Given the description of an element on the screen output the (x, y) to click on. 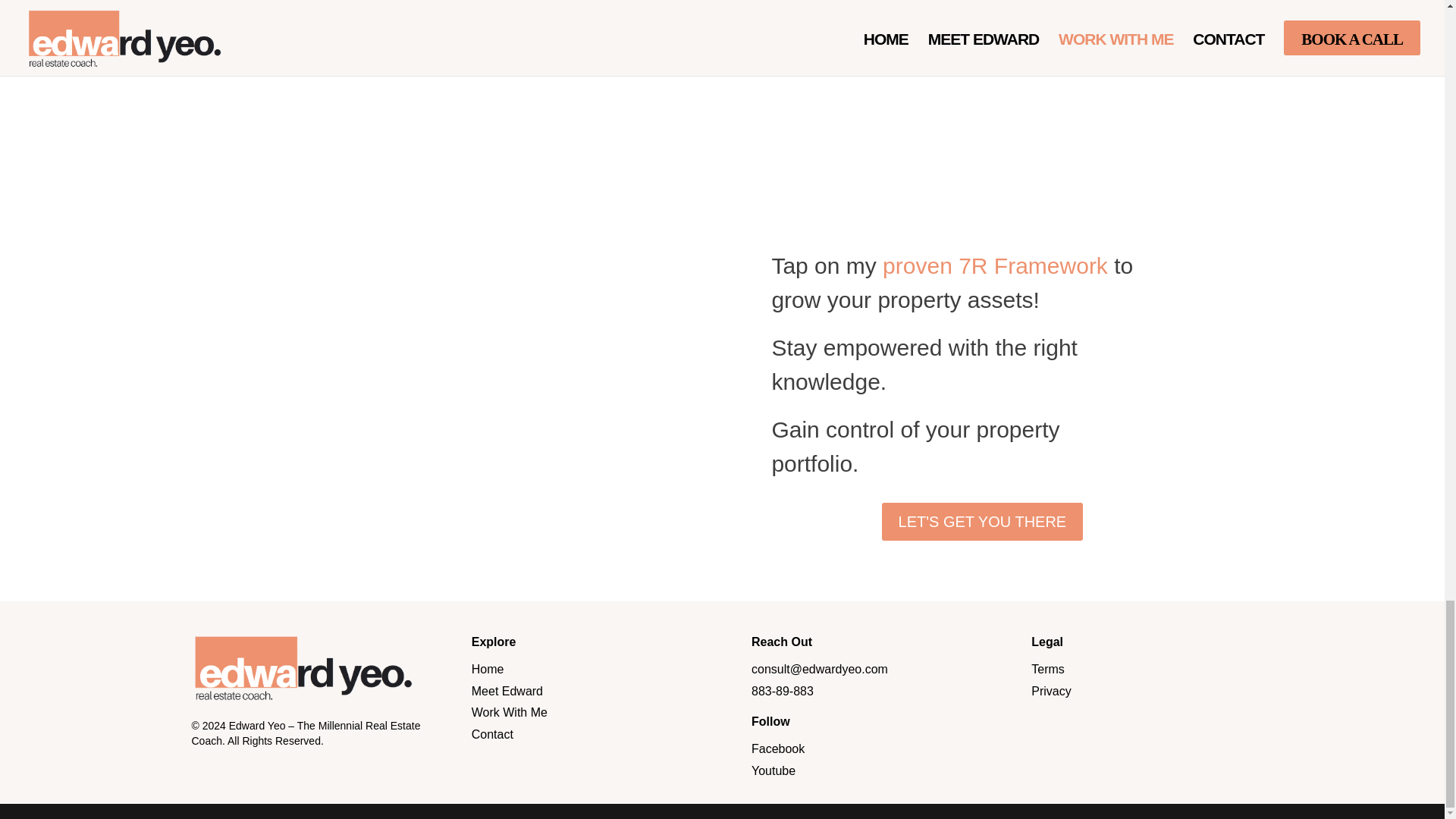
Privacy (1050, 690)
edward-yeo-real-estate-coach-logo (301, 667)
LET'S GET YOU THERE (982, 521)
Meet Edward (507, 690)
883-89-883 (782, 690)
Facebook (778, 748)
Home (487, 668)
Youtube (772, 770)
Work With Me (509, 712)
Contact (492, 734)
